Given the description of an element on the screen output the (x, y) to click on. 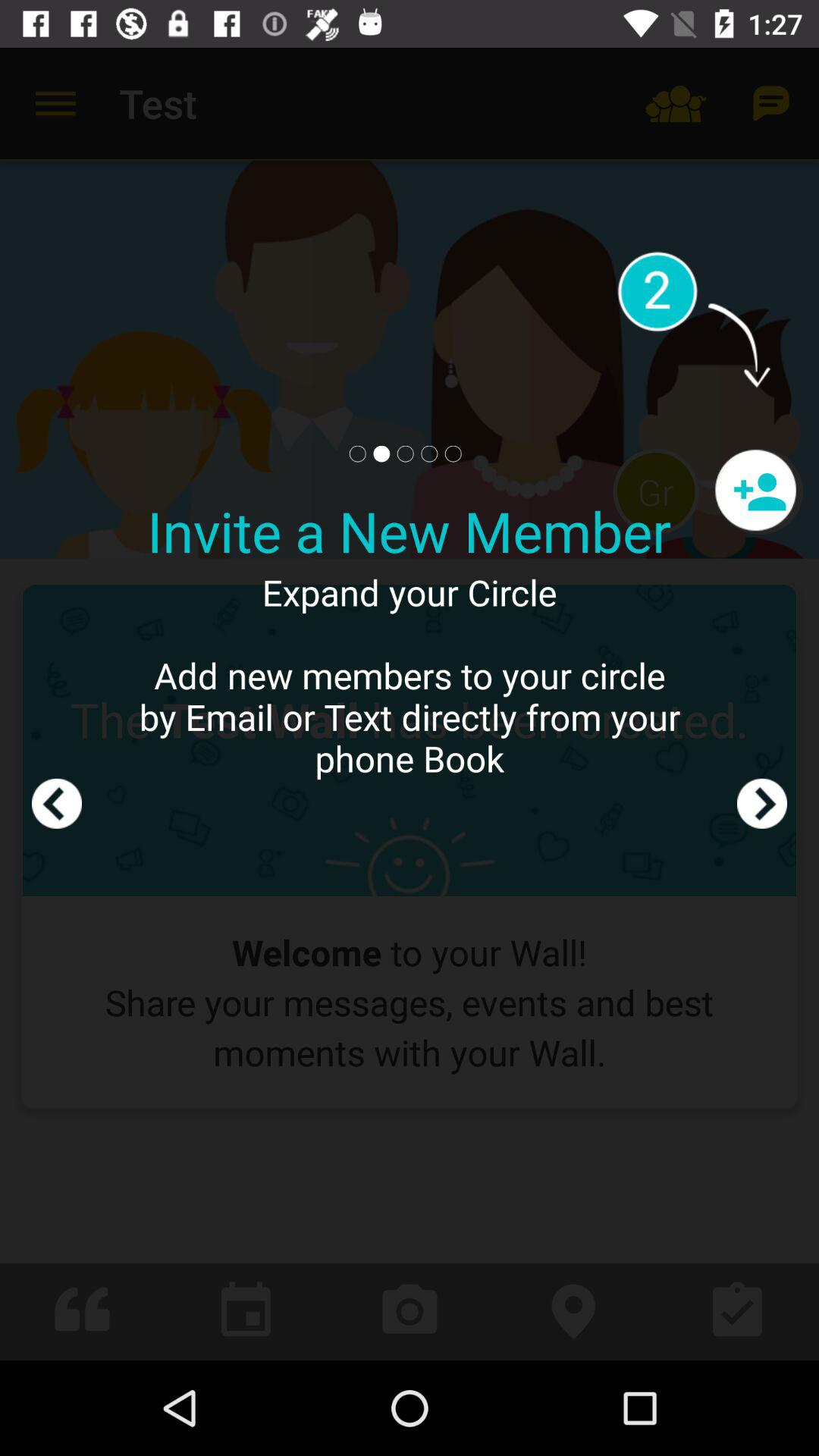
turn on the icon on the left (56, 703)
